Given the description of an element on the screen output the (x, y) to click on. 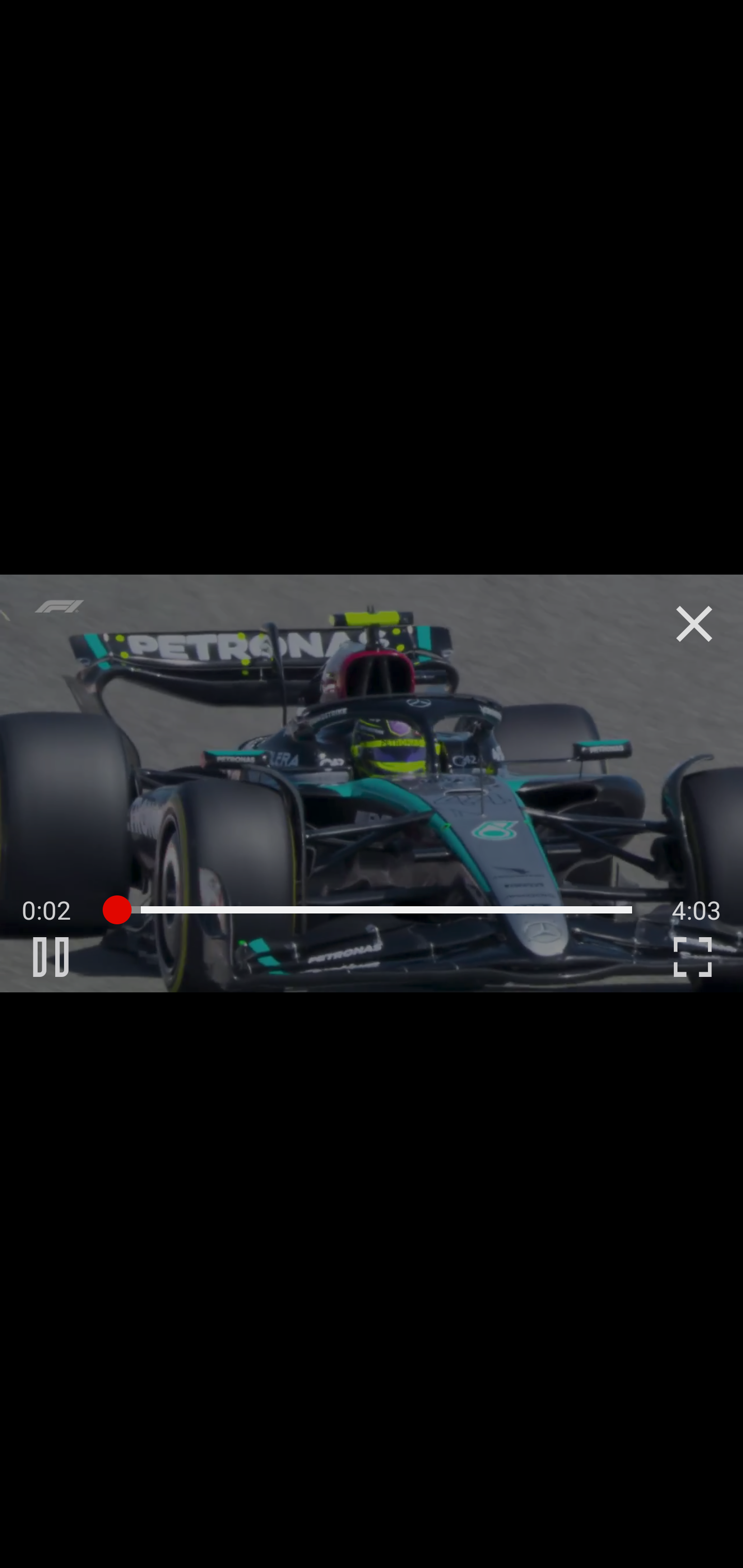
 Close (693, 623)
B Pause (50, 956)
C Enter Fullscreen (692, 956)
